Given the description of an element on the screen output the (x, y) to click on. 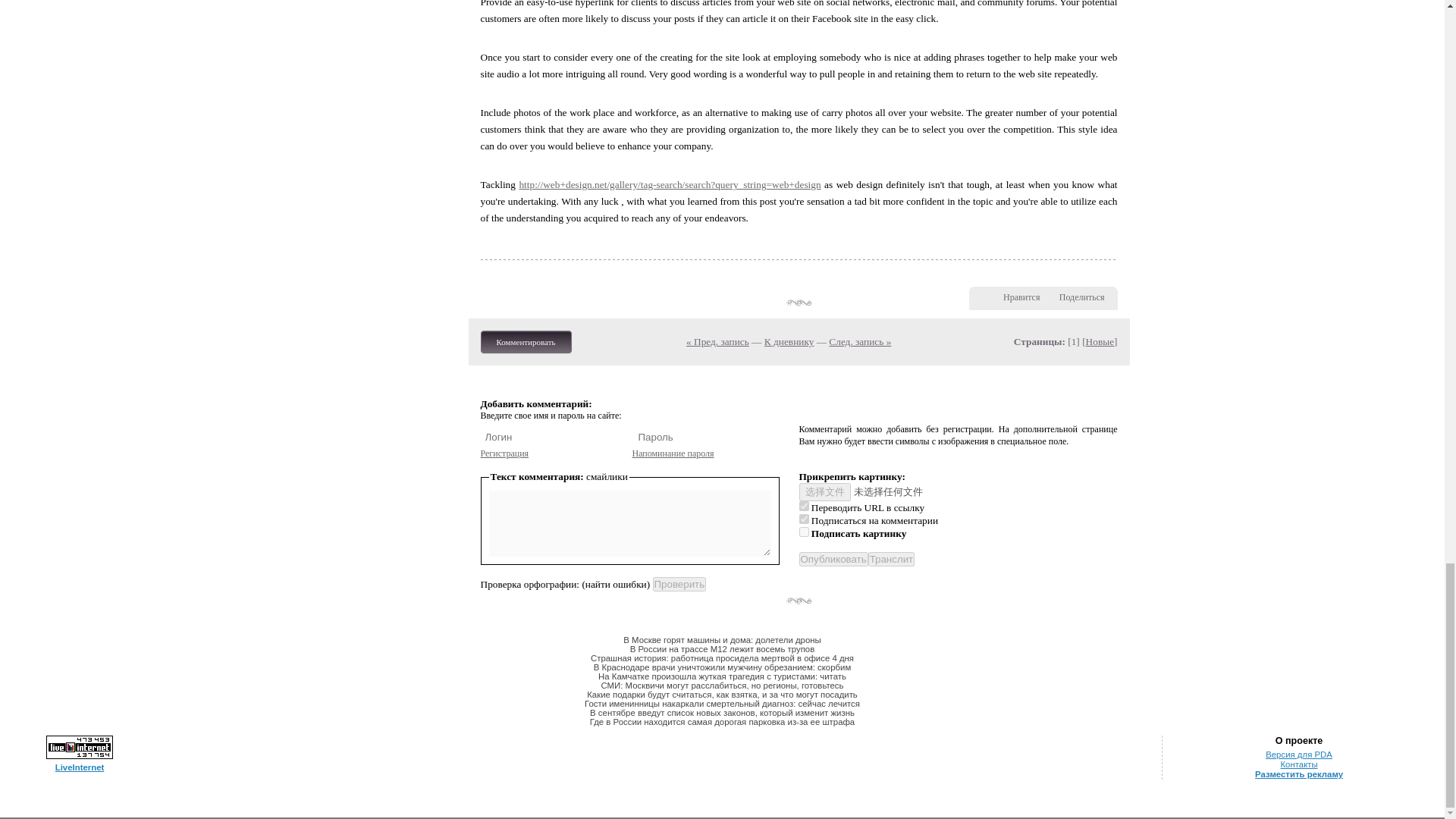
1 (804, 532)
yes (804, 506)
yes (804, 519)
